Given the description of an element on the screen output the (x, y) to click on. 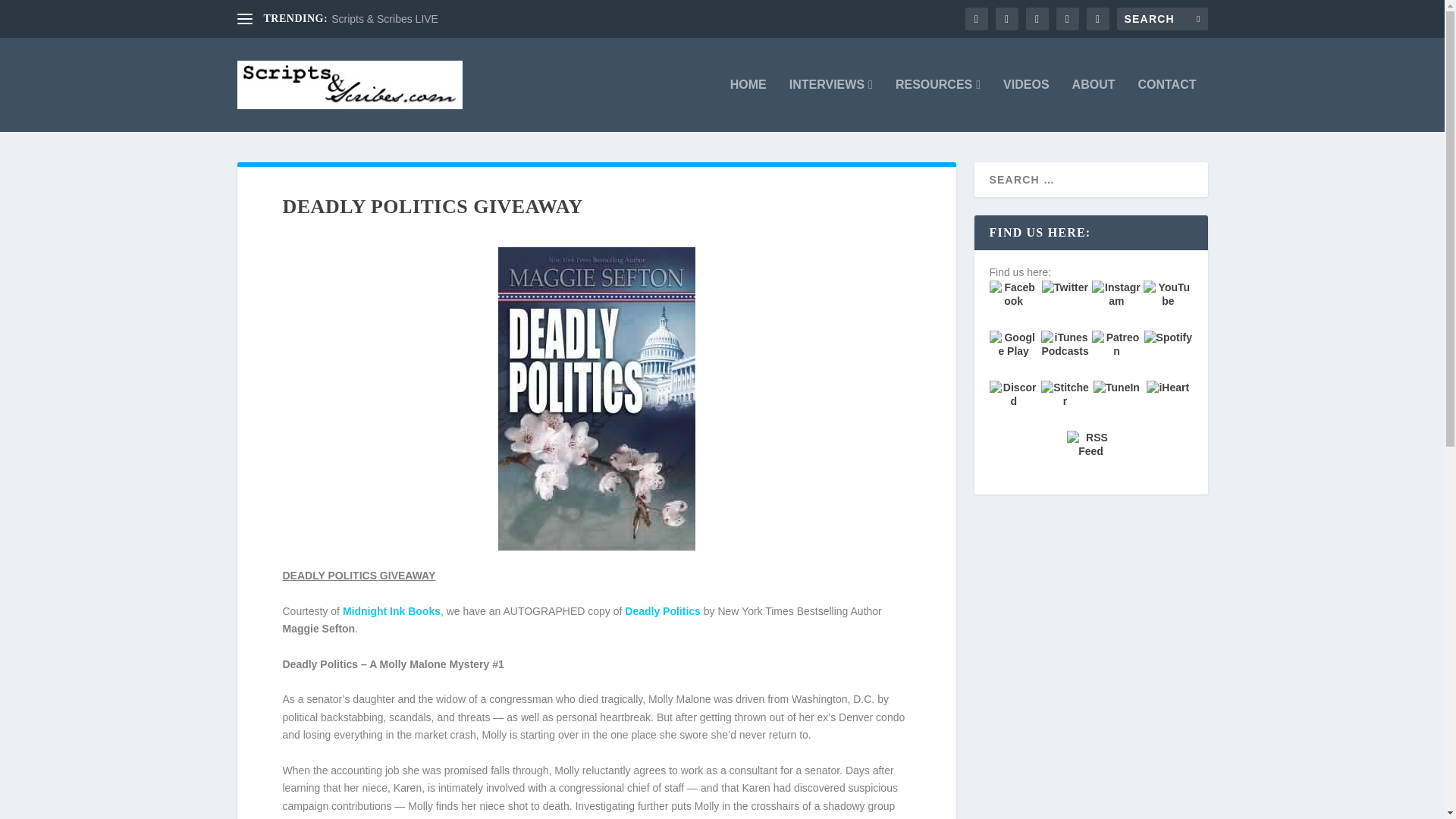
INTERVIEWS (830, 104)
Facebook (1014, 304)
Search for: (1161, 18)
Twitter (1065, 304)
RESOURCES (937, 104)
